Given the description of an element on the screen output the (x, y) to click on. 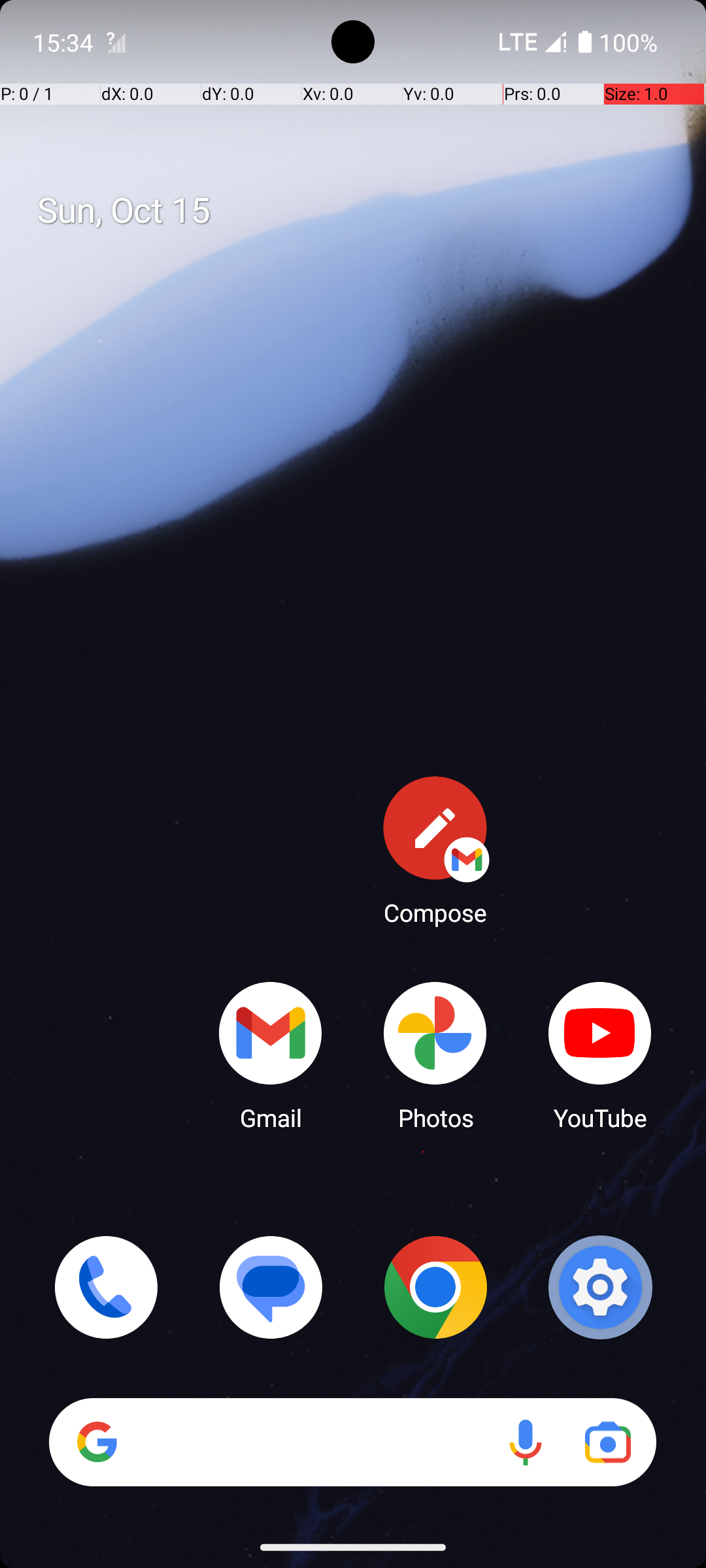
Compose Element type: android.widget.TextView (435, 849)
Android System notification: Sign in to network Element type: android.widget.ImageView (115, 41)
